Given the description of an element on the screen output the (x, y) to click on. 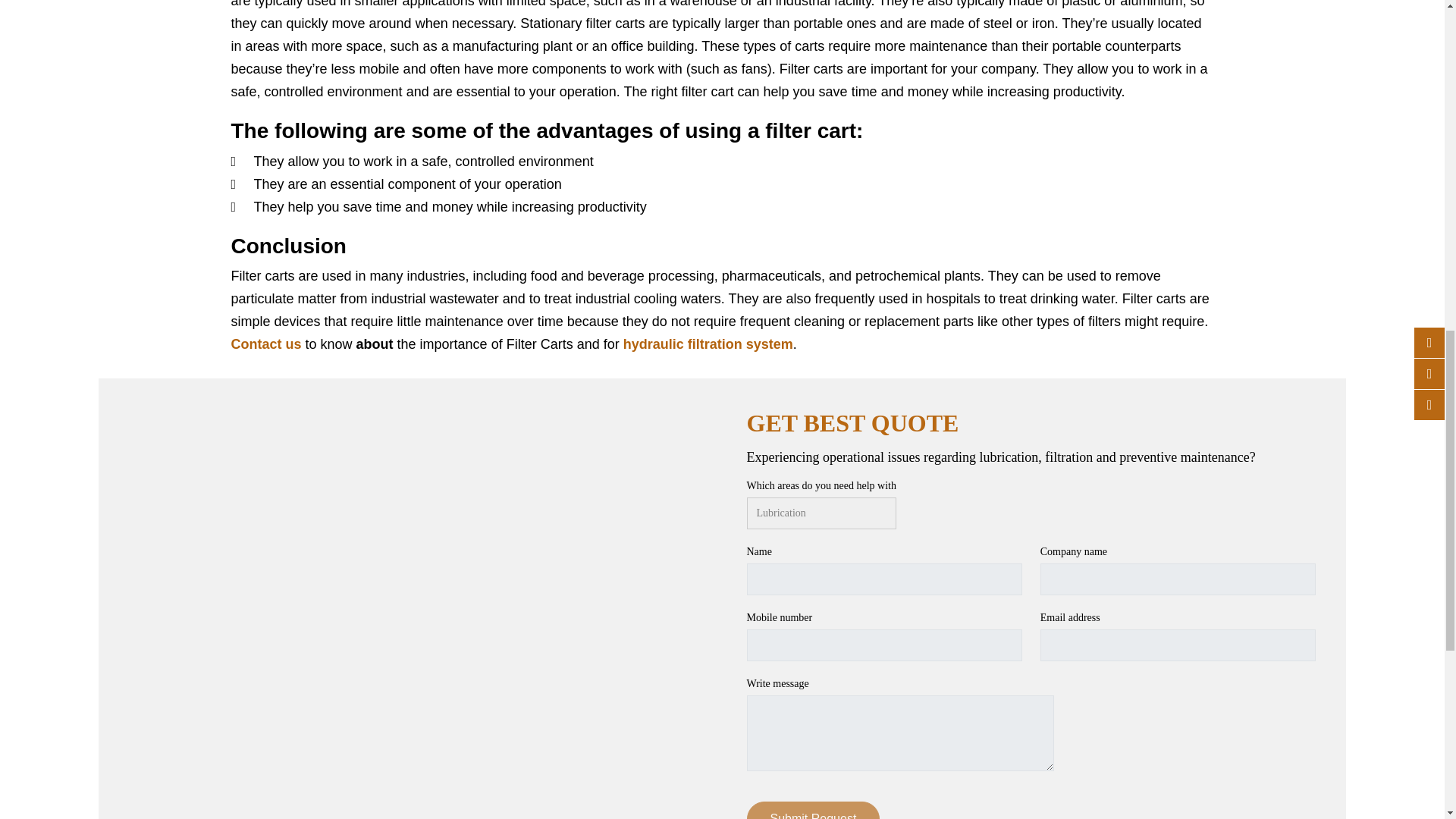
Contact us (265, 344)
Submit Request (812, 810)
